Given the description of an element on the screen output the (x, y) to click on. 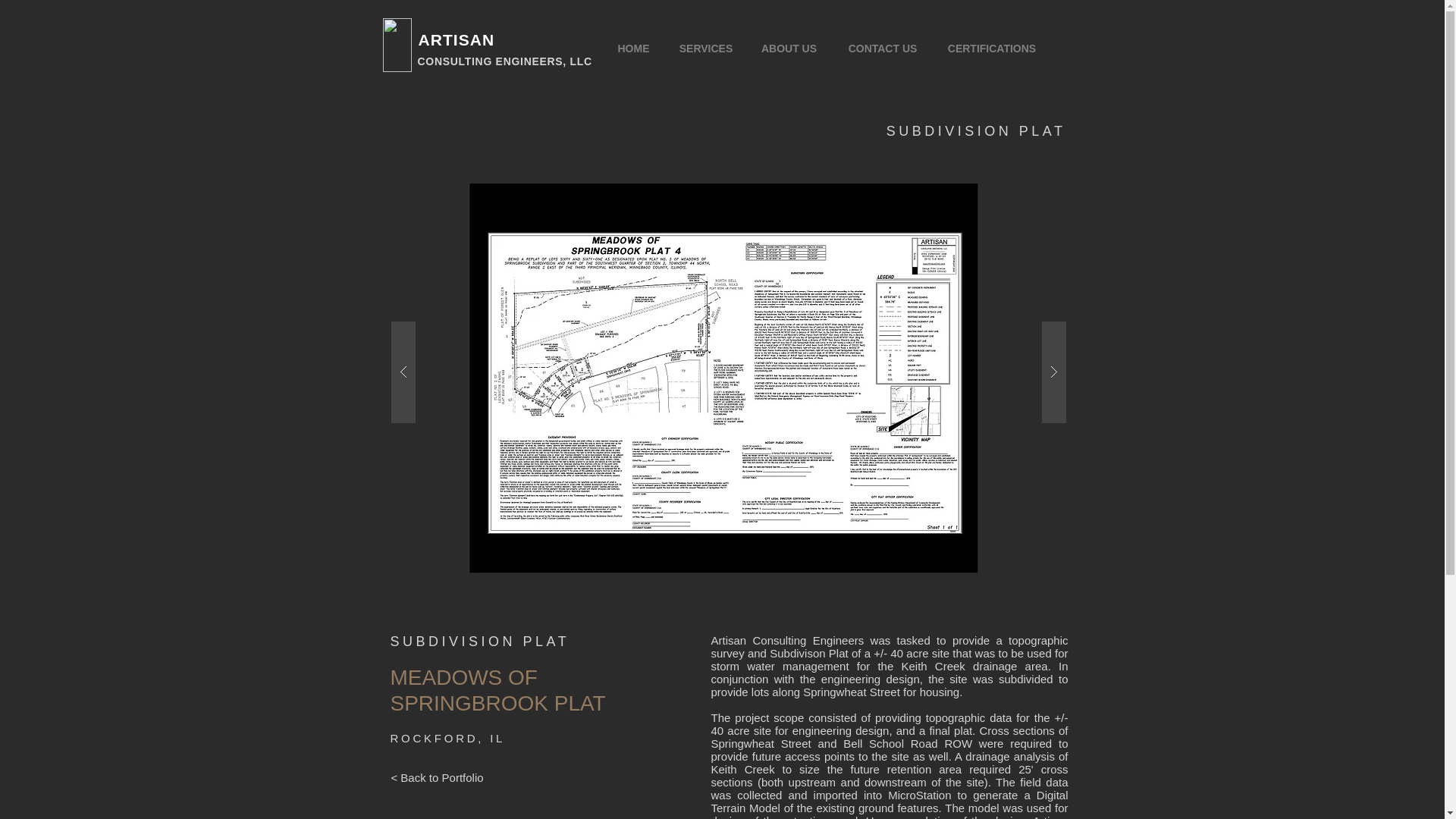
CONSULTING ENGINEERS, LLC (503, 61)
ABOUT US (788, 48)
CONTACT US (882, 48)
SERVICES (705, 48)
HOME (632, 48)
CERTIFICATIONS (991, 48)
ARTISAN (457, 39)
